Given the description of an element on the screen output the (x, y) to click on. 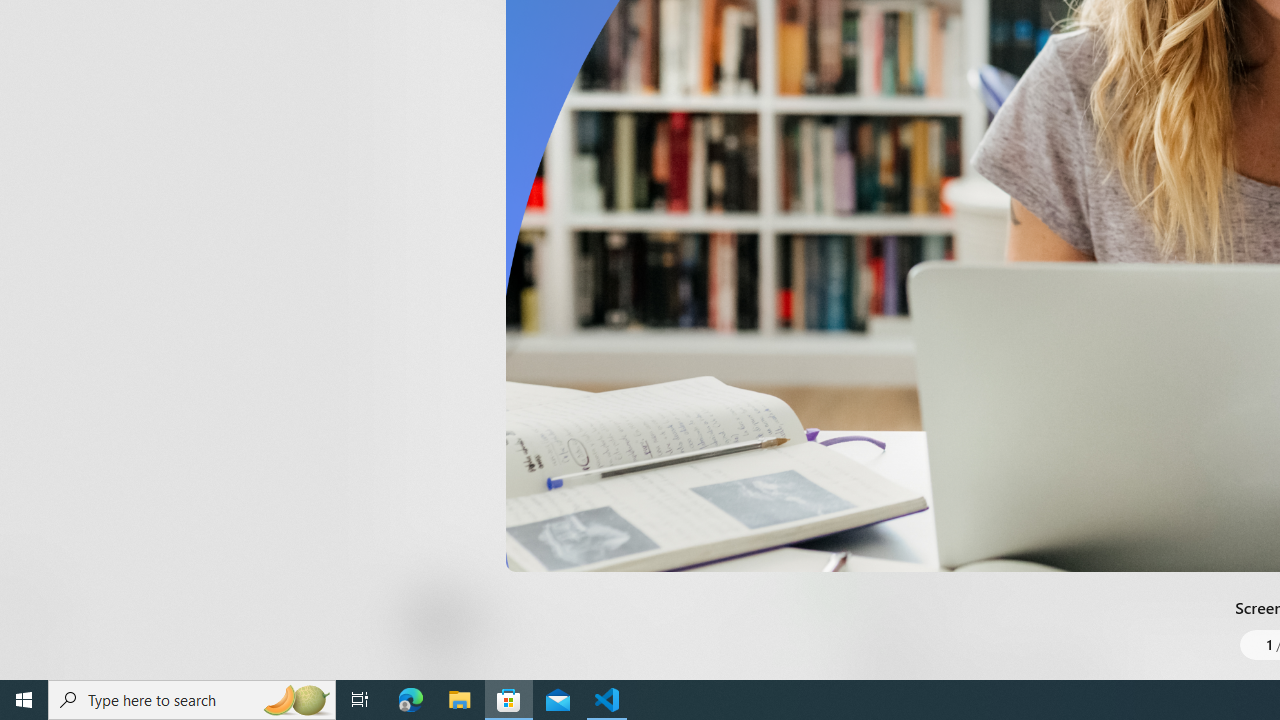
Age rating: TEEN. Click for more information. (488, 619)
Share (746, 632)
Social (579, 23)
Show all ratings and reviews (838, 454)
Show more (854, 31)
